Given the description of an element on the screen output the (x, y) to click on. 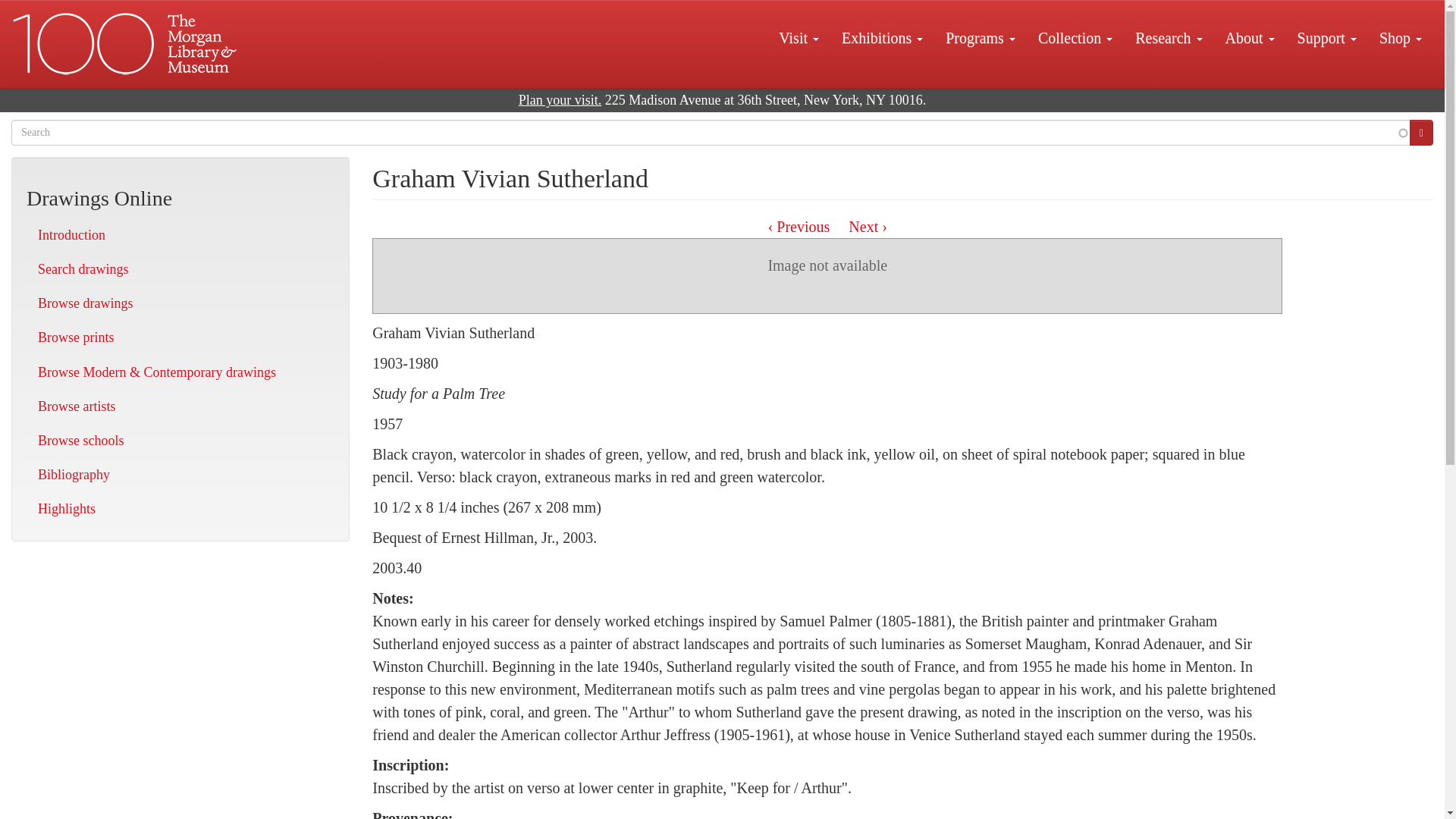
Home (126, 43)
Exhibitions (881, 37)
Collection (1075, 37)
Enter the terms you wish to search for. (710, 132)
Programs (980, 37)
Search (1420, 132)
Visit (798, 37)
